Given the description of an element on the screen output the (x, y) to click on. 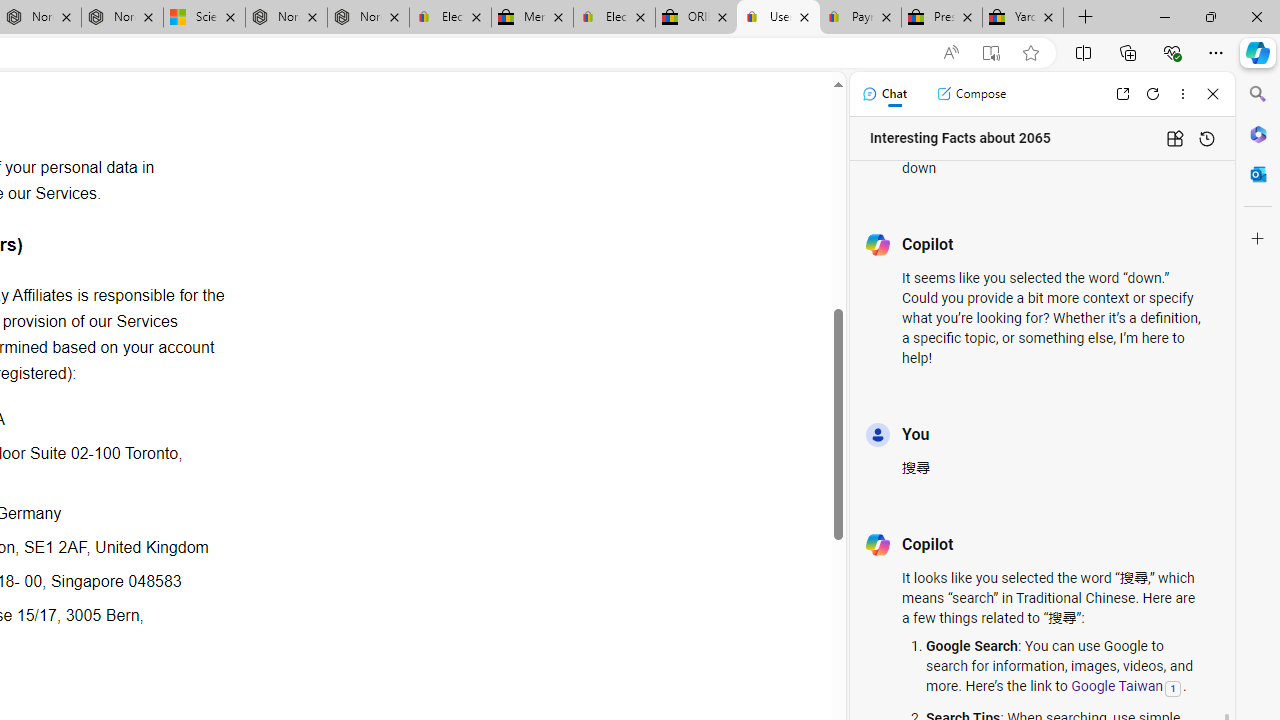
Compose (971, 93)
Press Room - eBay Inc. (941, 17)
Search (1258, 94)
Electronics, Cars, Fashion, Collectibles & More | eBay (614, 17)
Split screen (1083, 52)
Customize (1258, 239)
Close tab (1048, 16)
Copilot (Ctrl+Shift+.) (1258, 52)
Read aloud this page (Ctrl+Shift+U) (950, 53)
Microsoft 365 (1258, 133)
Yard, Garden & Outdoor Living (1023, 17)
Open link in new tab (1122, 93)
Enter Immersive Reader (F9) (991, 53)
New Tab (1085, 17)
